Given the description of an element on the screen output the (x, y) to click on. 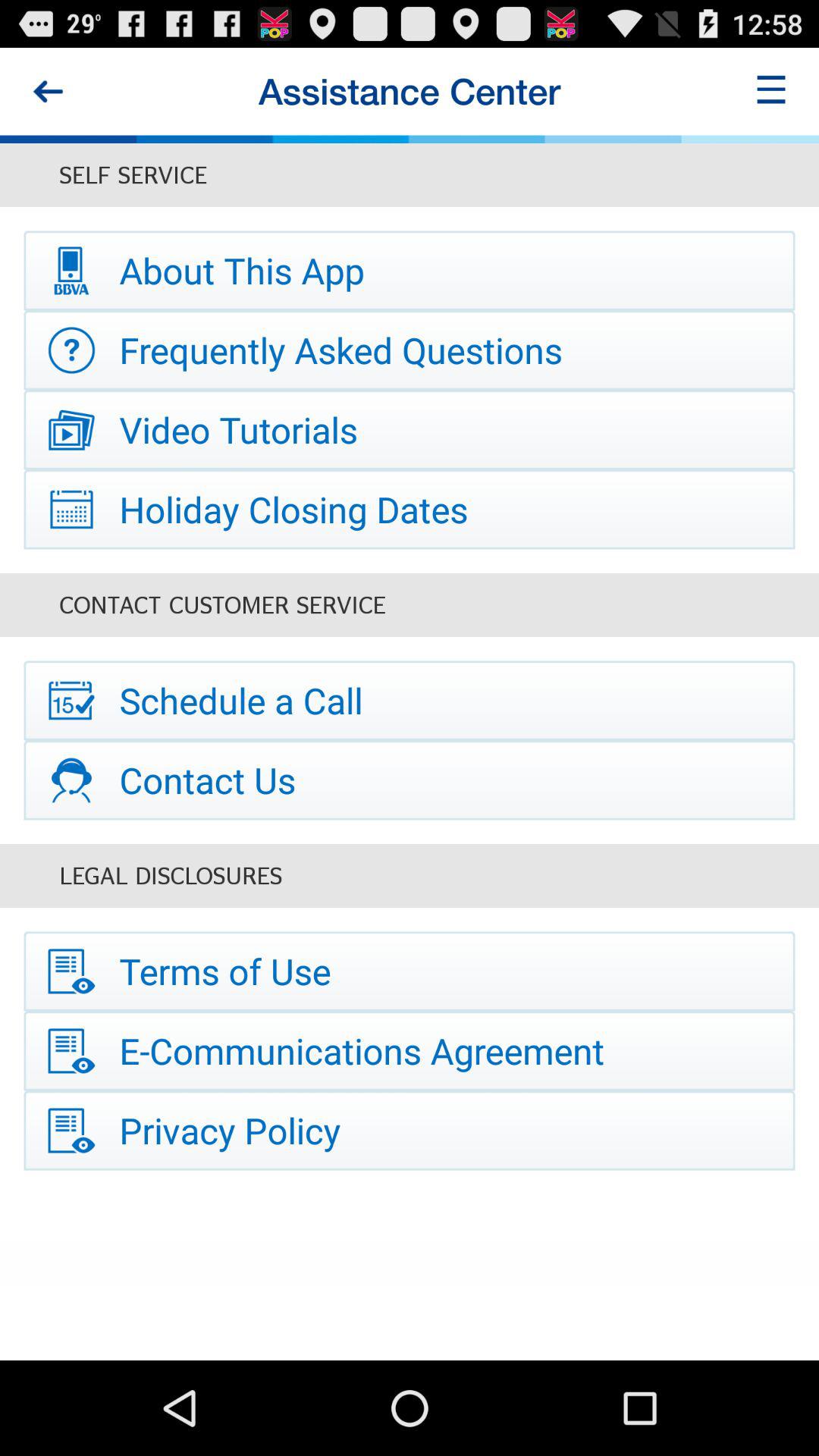
tap the item to the left of assistance center item (47, 91)
